Given the description of an element on the screen output the (x, y) to click on. 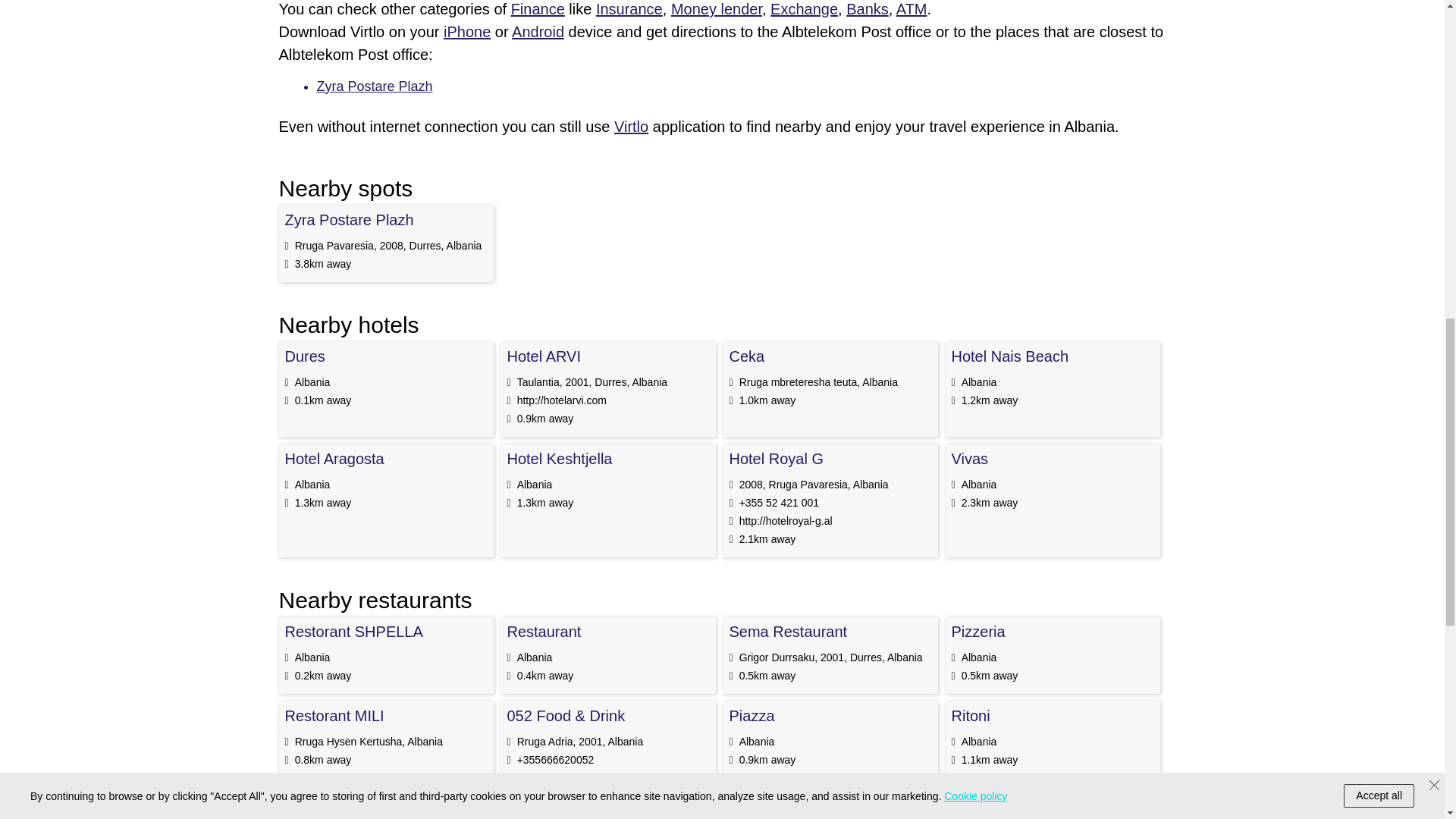
Insurance (628, 8)
Banks (866, 8)
iPhone (467, 31)
ATM (911, 8)
Exchange (804, 8)
Money lender (716, 8)
Android (538, 31)
Finance (537, 8)
